Given the description of an element on the screen output the (x, y) to click on. 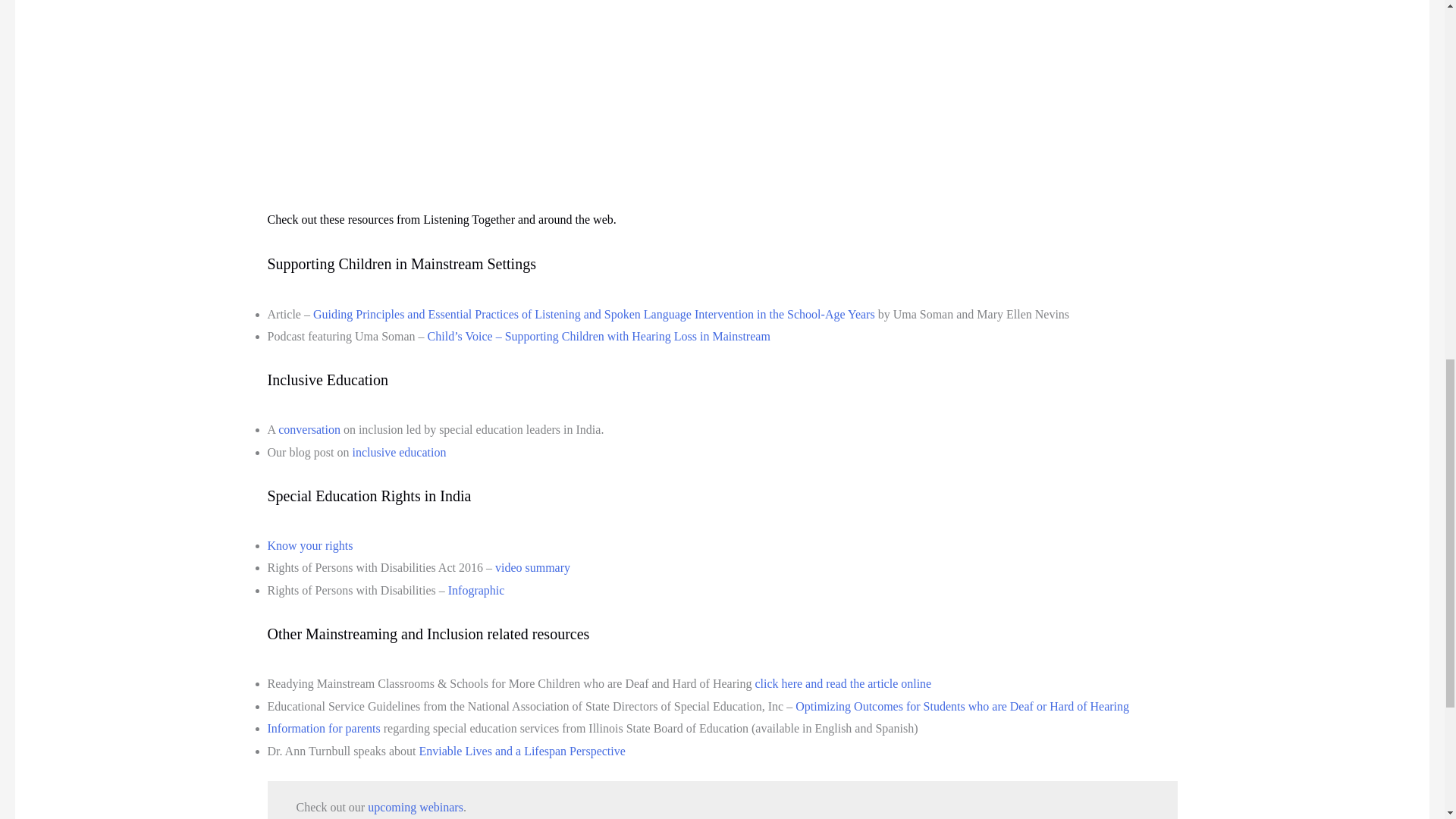
Enviable Lives and a Lifespan Perspective (522, 750)
inclusive education (398, 451)
Know your rights (309, 545)
click here and read the article online (842, 683)
Information for parents (323, 727)
conversation (309, 429)
Infographic (476, 590)
